Given the description of an element on the screen output the (x, y) to click on. 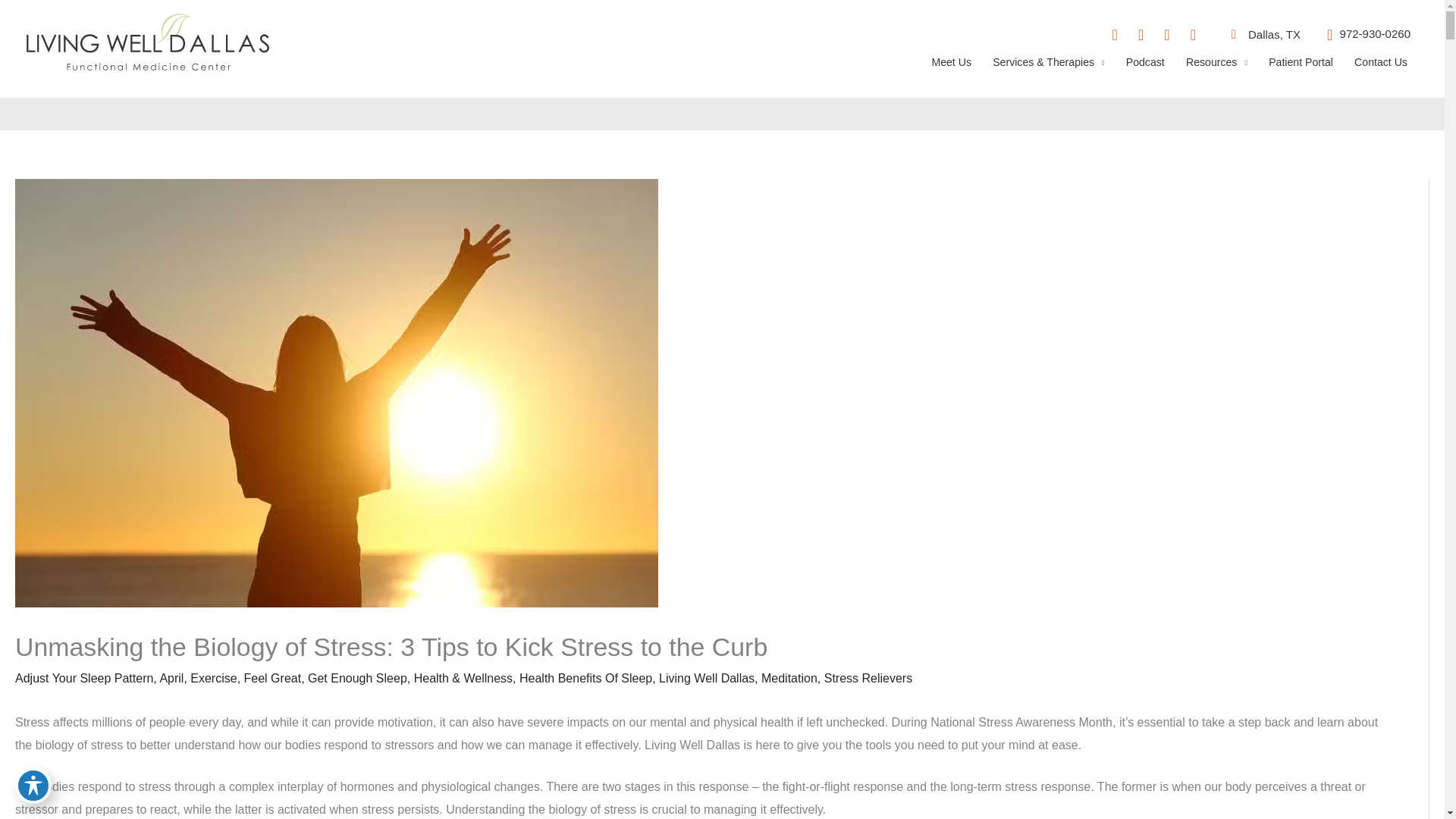
Meet Us (950, 69)
Contact Us (1380, 69)
Resources (1215, 69)
Patient Portal (1300, 69)
Dallas, TX (1260, 34)
Podcast (1144, 69)
972-930-0260 (1363, 34)
